Given the description of an element on the screen output the (x, y) to click on. 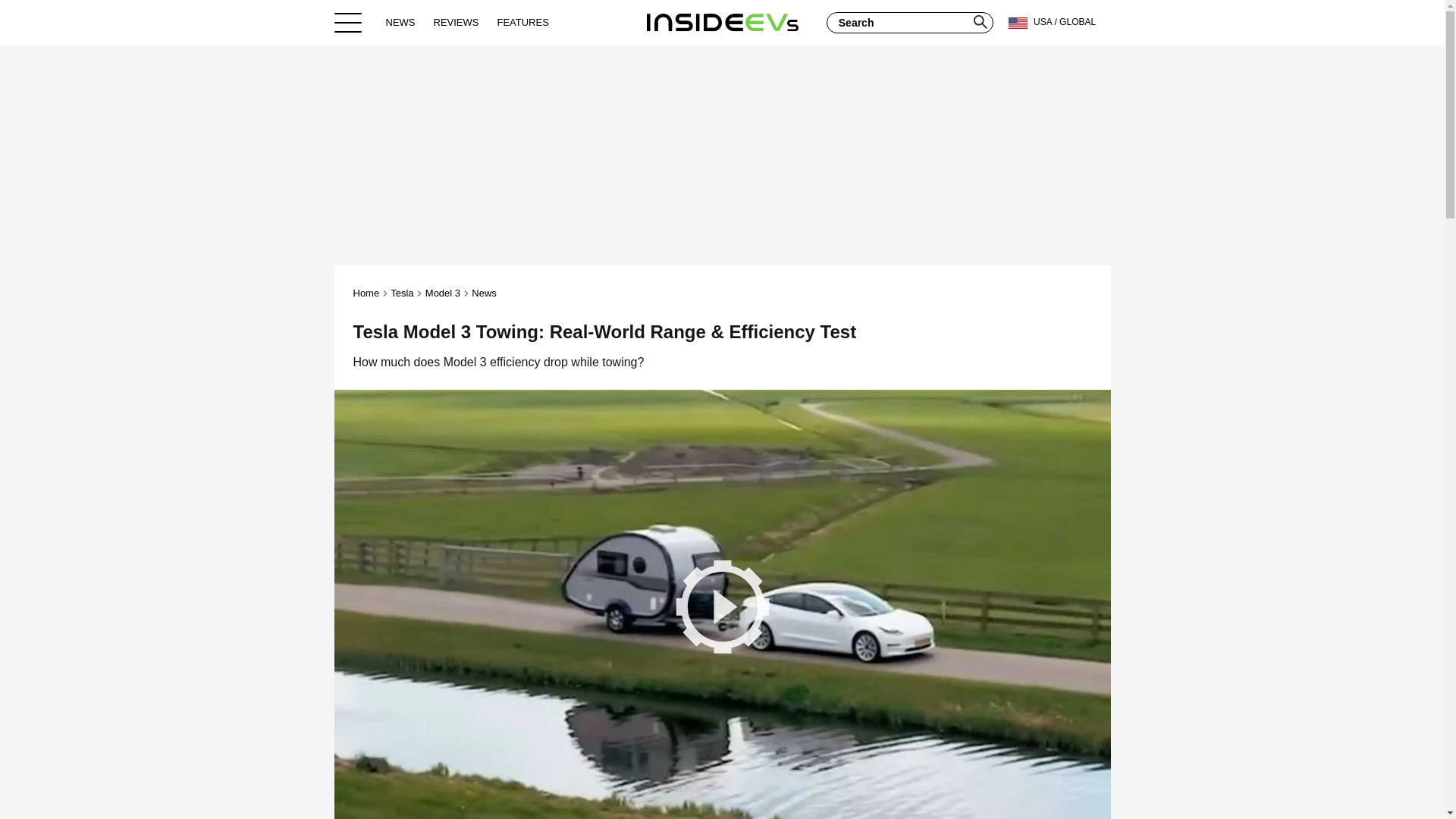
Model 3 (442, 292)
NEWS (399, 22)
FEATURES (522, 22)
Home (366, 293)
REVIEWS (456, 22)
Tesla (401, 292)
News (483, 292)
Home (721, 22)
